Given the description of an element on the screen output the (x, y) to click on. 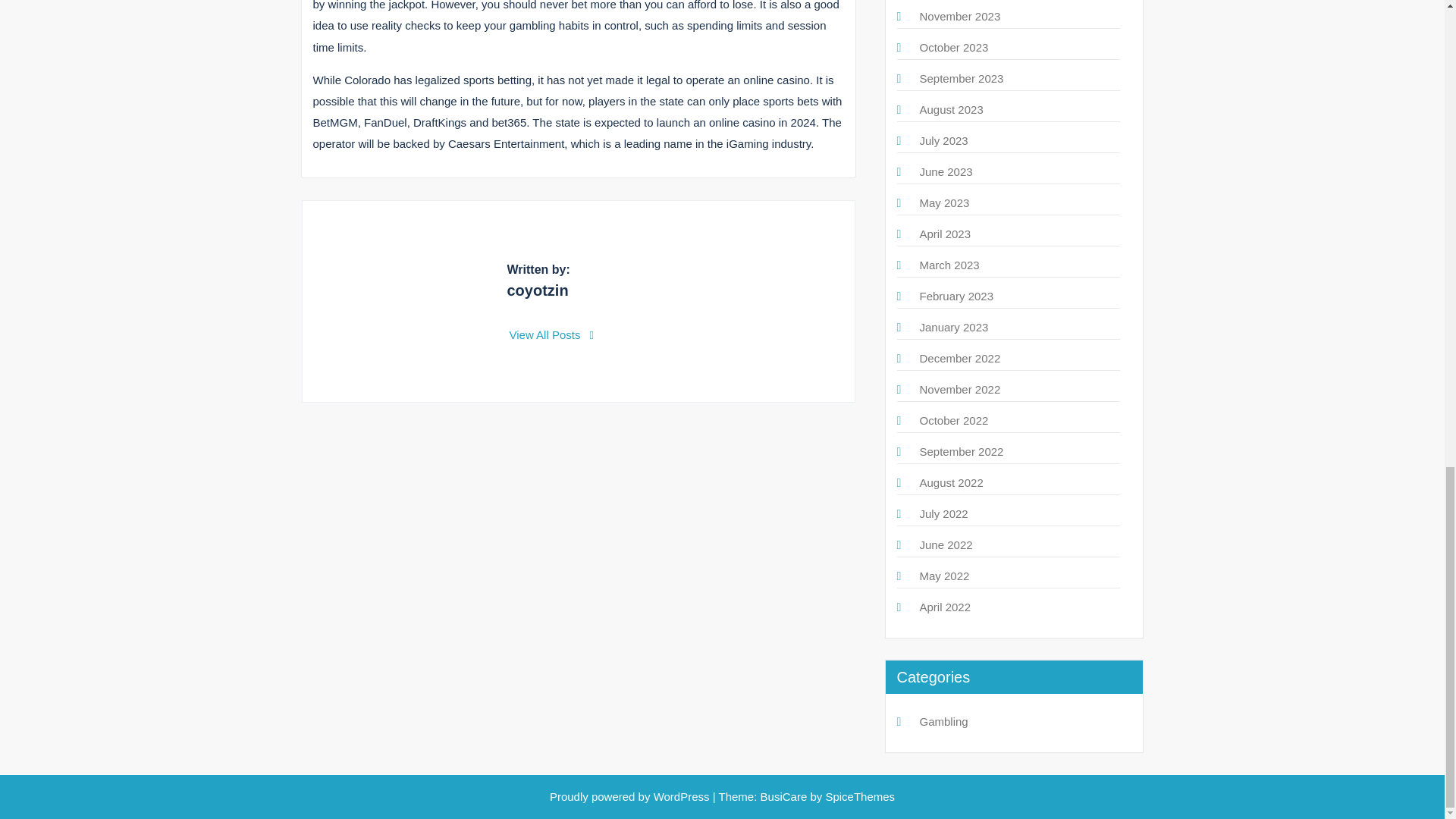
November 2022 (959, 389)
October 2023 (953, 47)
May 2022 (943, 575)
September 2023 (960, 78)
August 2023 (950, 109)
July 2023 (943, 140)
June 2022 (945, 544)
View All Posts (551, 334)
January 2023 (953, 327)
December 2022 (959, 358)
May 2023 (943, 202)
July 2022 (943, 513)
April 2023 (944, 233)
August 2022 (950, 481)
November 2023 (959, 15)
